Given the description of an element on the screen output the (x, y) to click on. 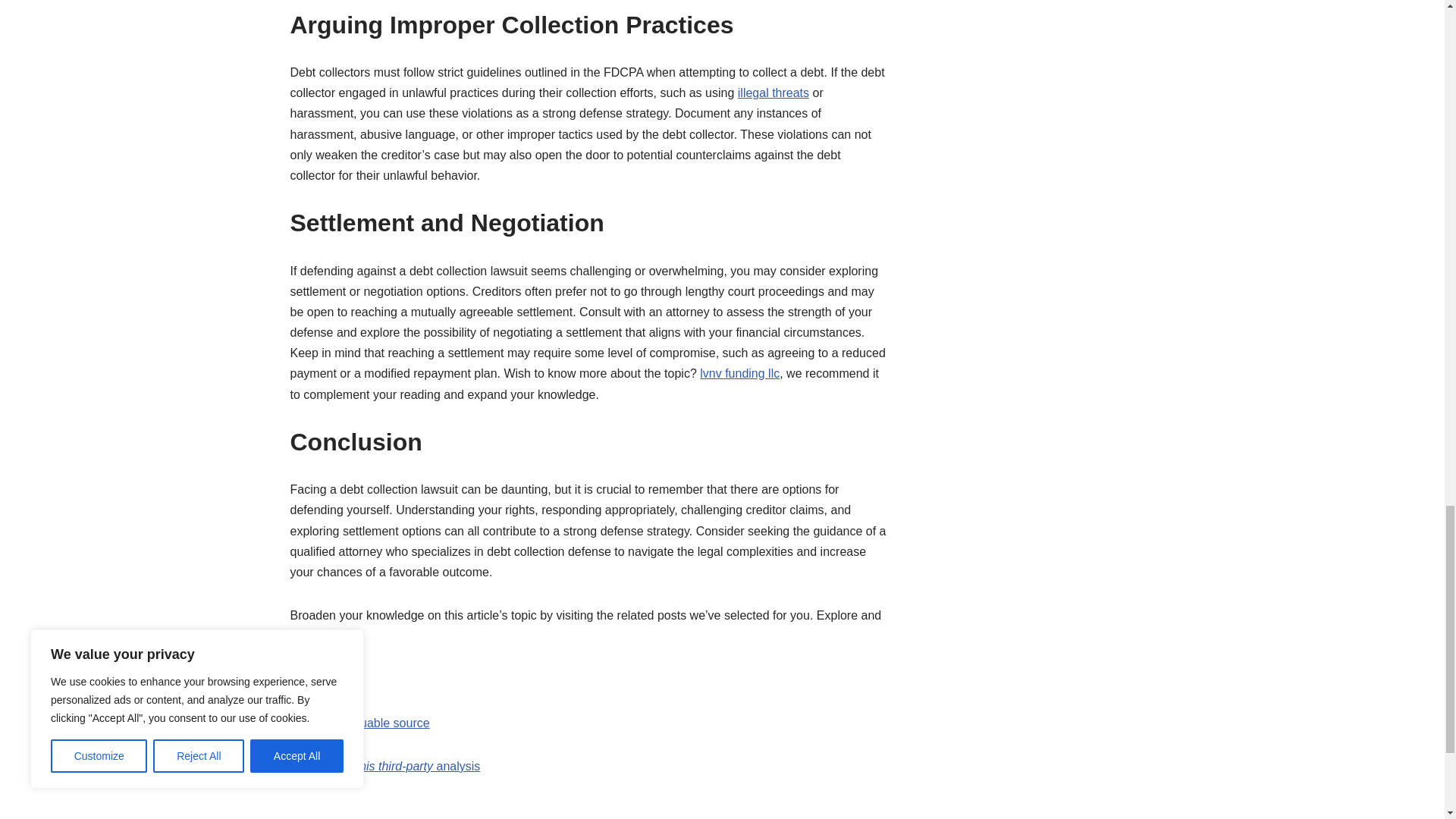
Get informed (324, 679)
illegal threats (773, 92)
lvnv funding llc (739, 373)
Read this valuable source (359, 722)
Read about this third-party analysis (384, 766)
